Given the description of an element on the screen output the (x, y) to click on. 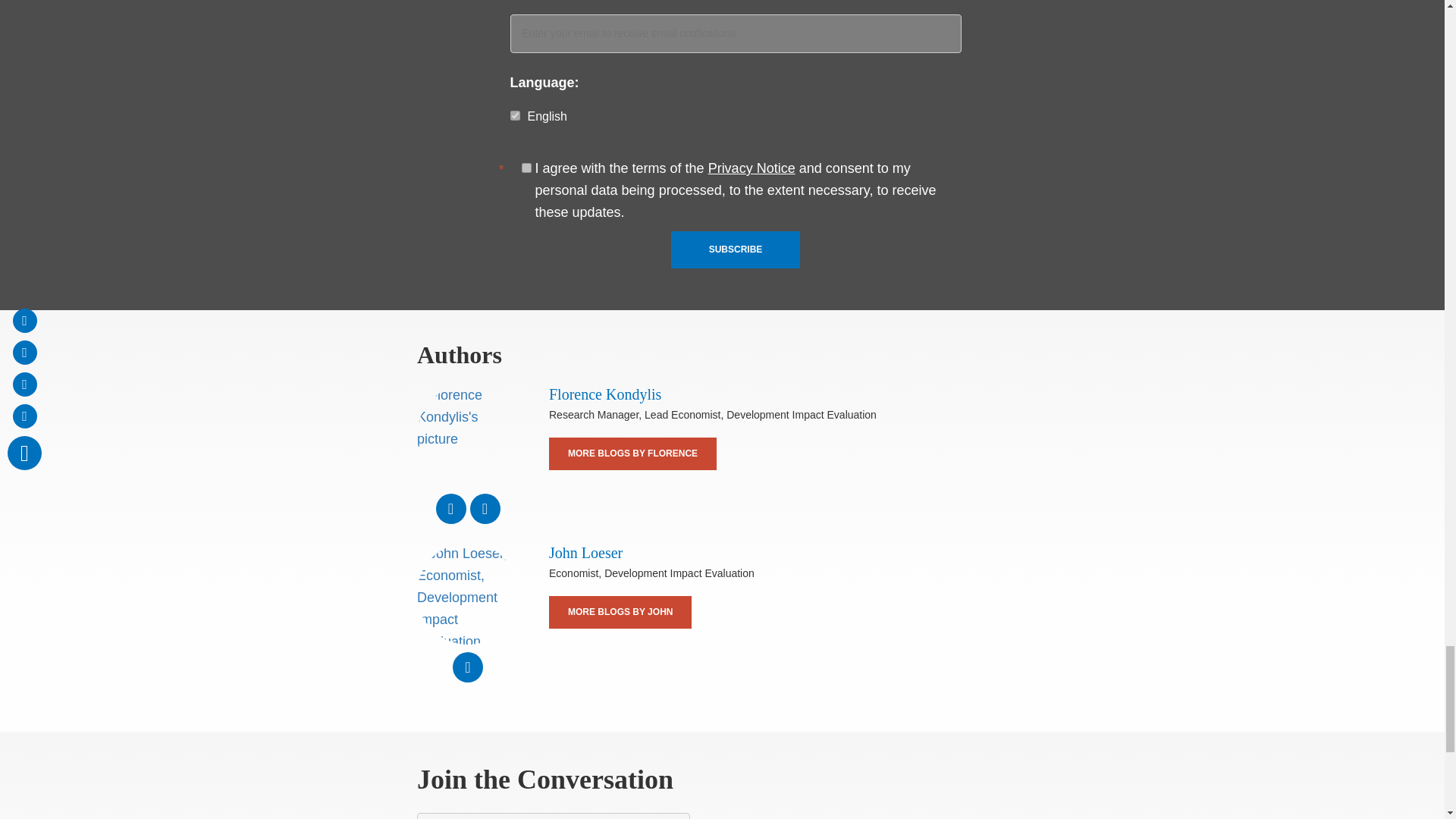
1 (526, 167)
Privacy Notice (750, 168)
Florence Kondylis's picture (467, 435)
Your name (553, 816)
John Loeser, Economist, Development Impact Evaluation (467, 593)
SUBSCRIBE (735, 249)
en (514, 115)
